Given the description of an element on the screen output the (x, y) to click on. 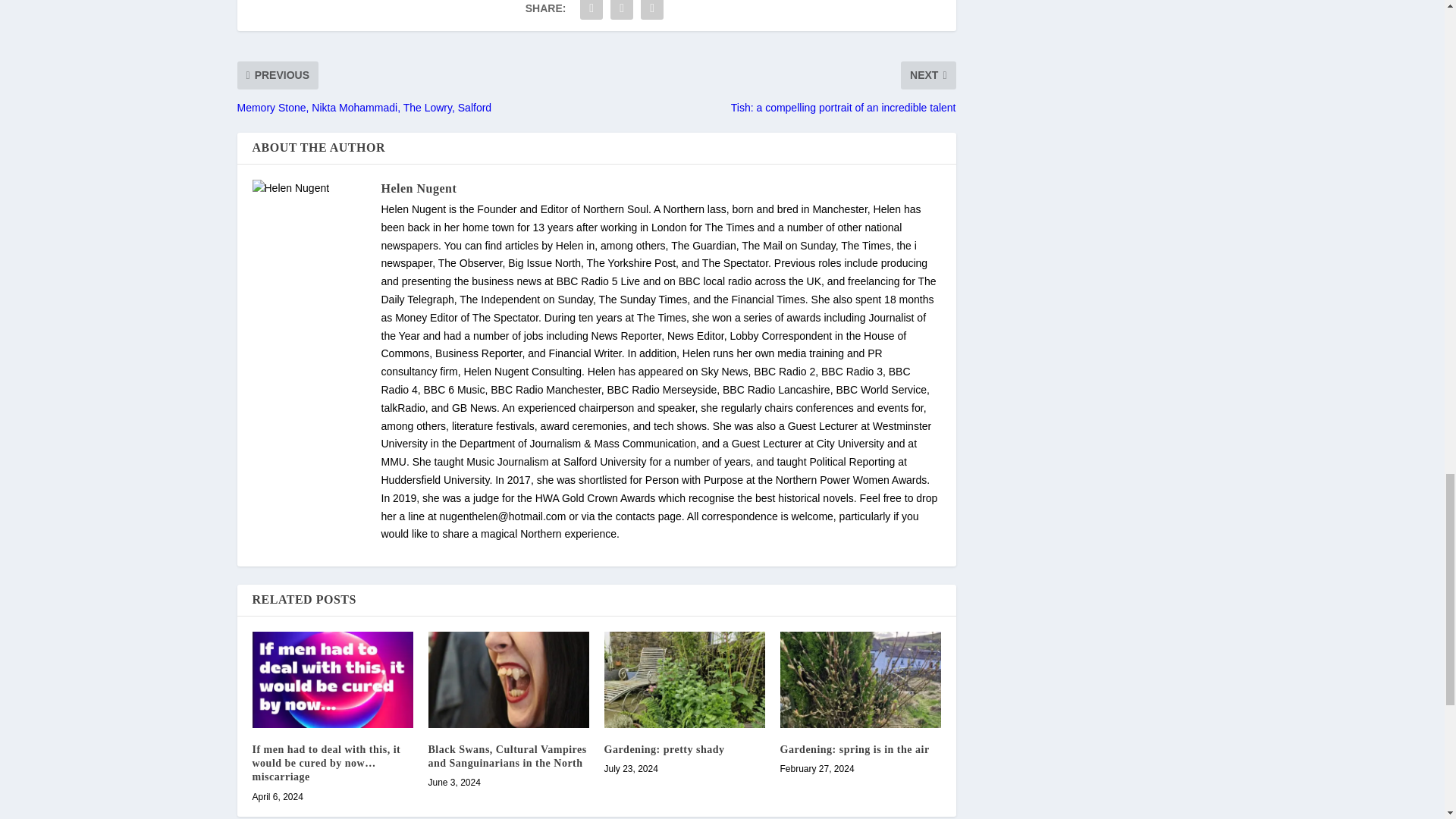
Share "Gardening: planting, planting, planting" via Twitter (622, 11)
Gardening: pretty shady (684, 679)
View all posts by Helen Nugent (418, 187)
Gardening: spring is in the air (859, 679)
Share "Gardening: planting, planting, planting" via LinkedIn (651, 11)
Share "Gardening: planting, planting, planting" via Facebook (591, 11)
